Given the description of an element on the screen output the (x, y) to click on. 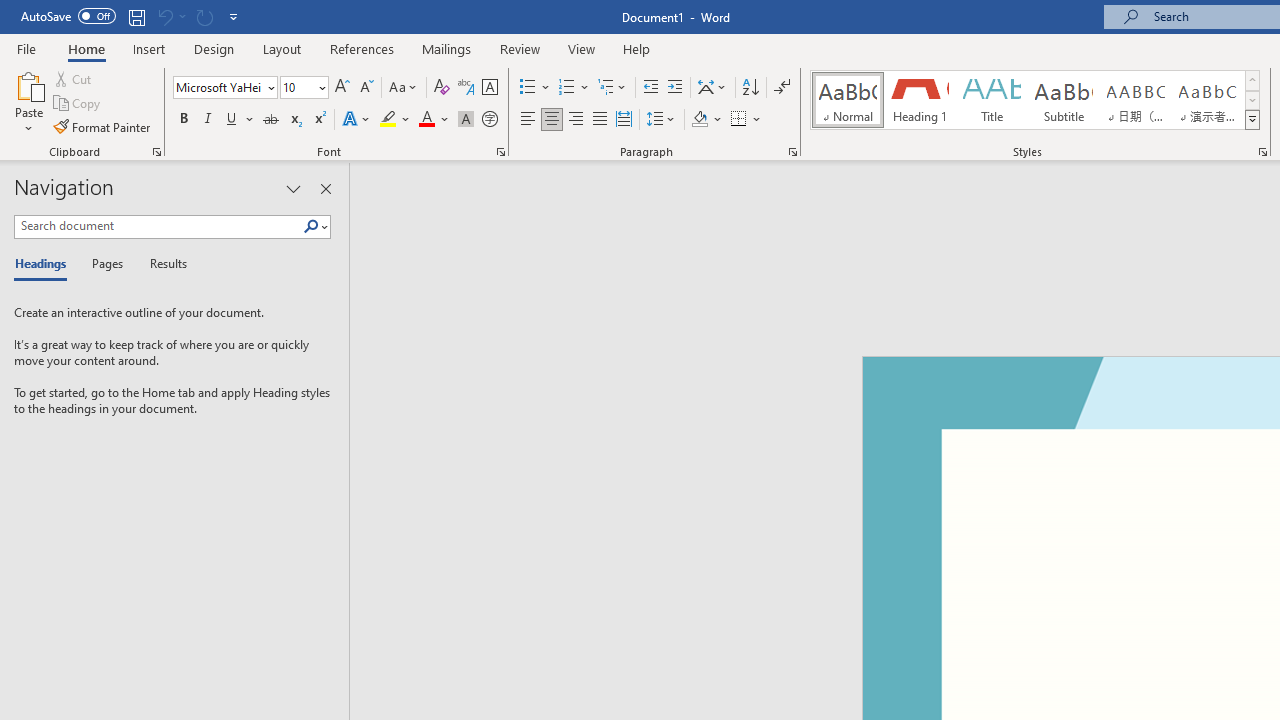
Insert (149, 48)
Asian Layout (712, 87)
Format Painter (103, 126)
AutoSave (68, 16)
Layout (282, 48)
Shading (706, 119)
Mailings (447, 48)
References (362, 48)
